Given the description of an element on the screen output the (x, y) to click on. 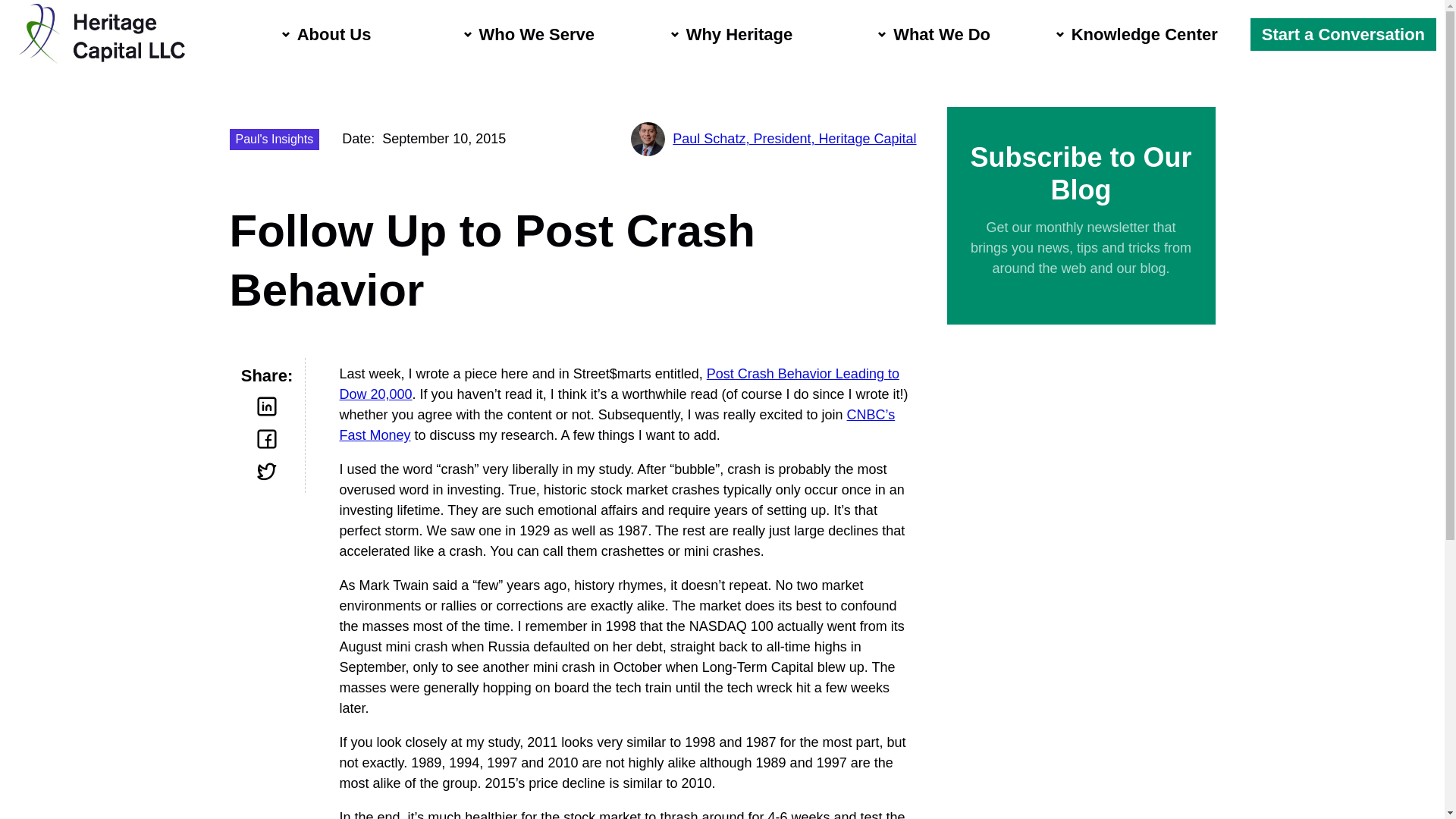
What We Do (937, 34)
About Us (330, 15)
Knowledge Center (1141, 34)
Why Heritage (735, 35)
Who We Serve (533, 28)
Start a Conversation (1342, 34)
